Given the description of an element on the screen output the (x, y) to click on. 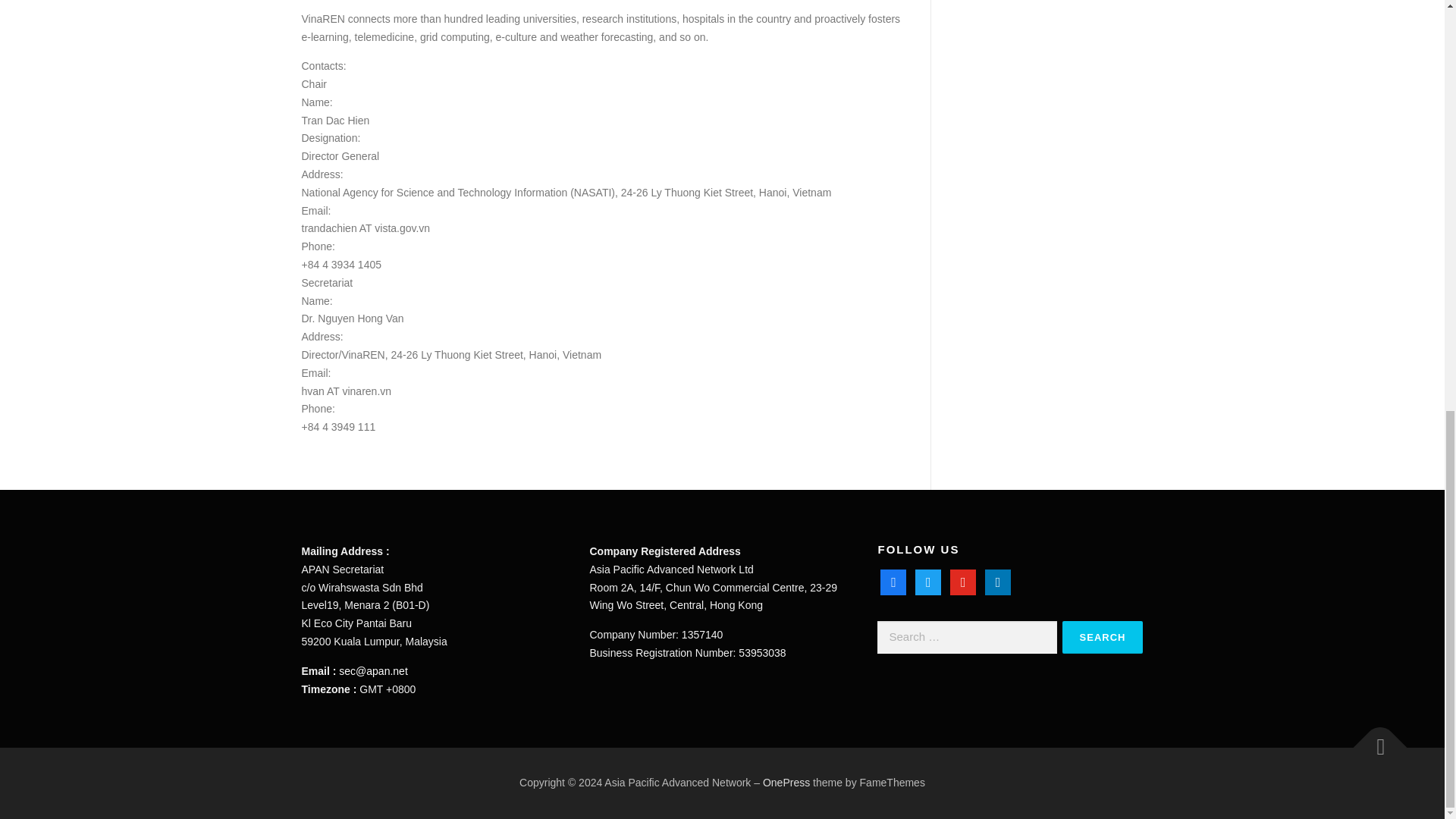
Youtube (962, 581)
Linkedin (997, 581)
Back To Top (1372, 740)
Facebook (892, 581)
Search (1102, 636)
Twitter (927, 581)
Search (1102, 636)
